Given the description of an element on the screen output the (x, y) to click on. 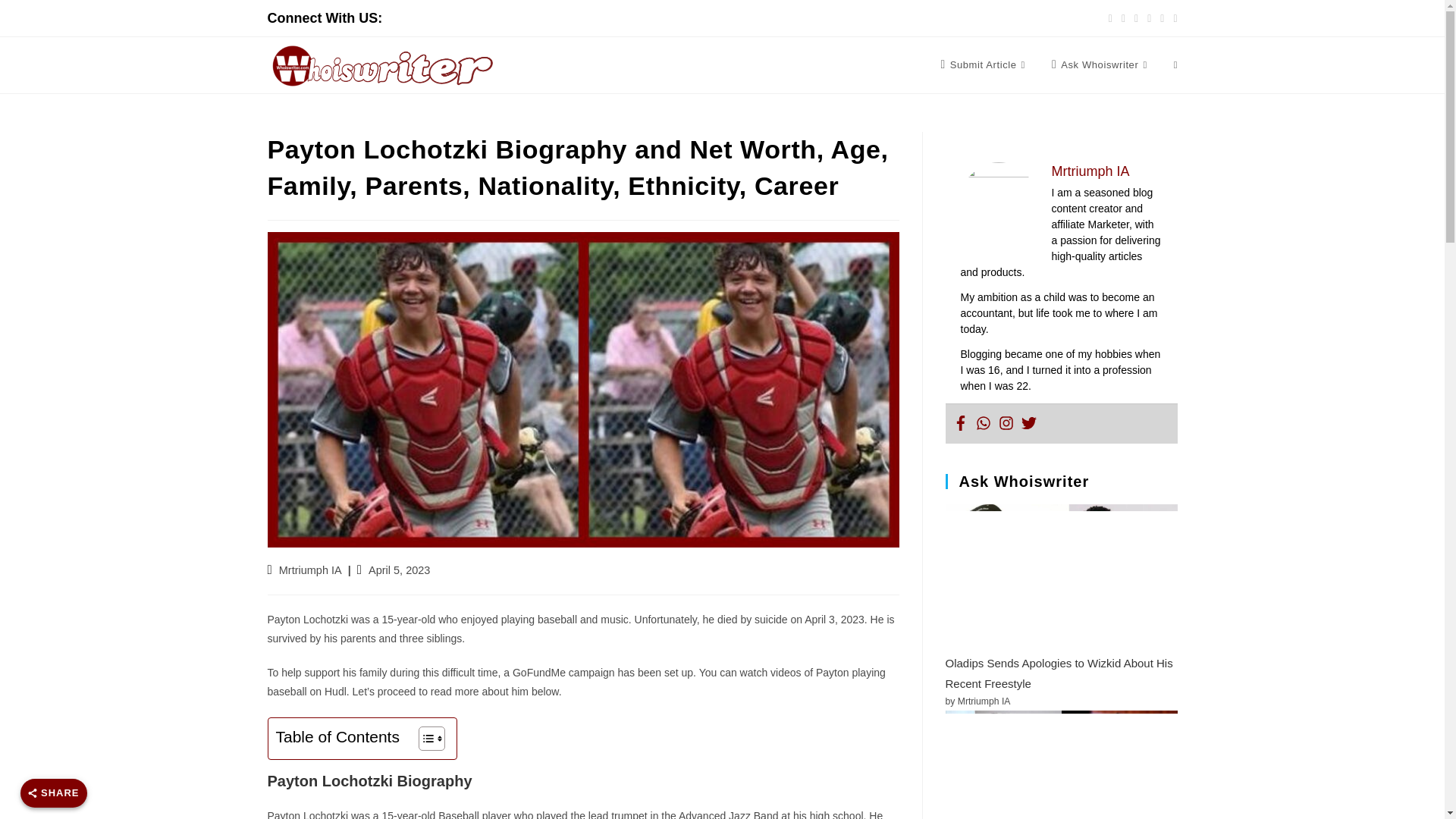
Submit Article (984, 64)
Ask Whoiswriter (1101, 64)
Instagram (1005, 423)
Mrtriumph IA (310, 570)
Facebook (960, 423)
Posts by Mrtriumph IA (310, 570)
Twitter (1027, 423)
Whatsapp (982, 423)
